Given the description of an element on the screen output the (x, y) to click on. 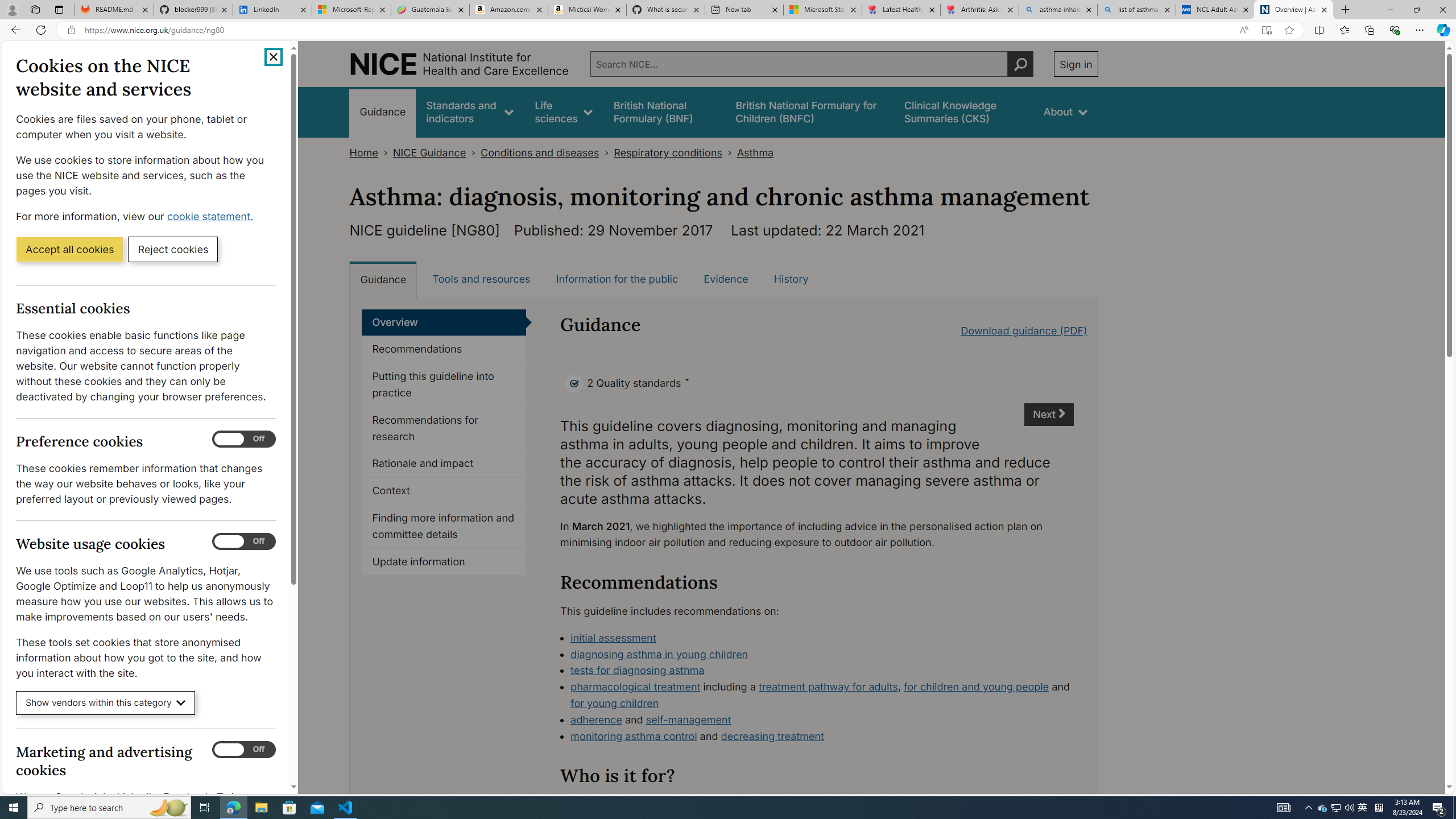
treatment pathway for adults (828, 686)
Rationale and impact (443, 463)
Reject cookies (173, 248)
Putting this guideline into practice (443, 385)
Recommendations (444, 349)
Evidence (725, 279)
Recommendations for research (443, 428)
Accept all cookies (69, 248)
